Given the description of an element on the screen output the (x, y) to click on. 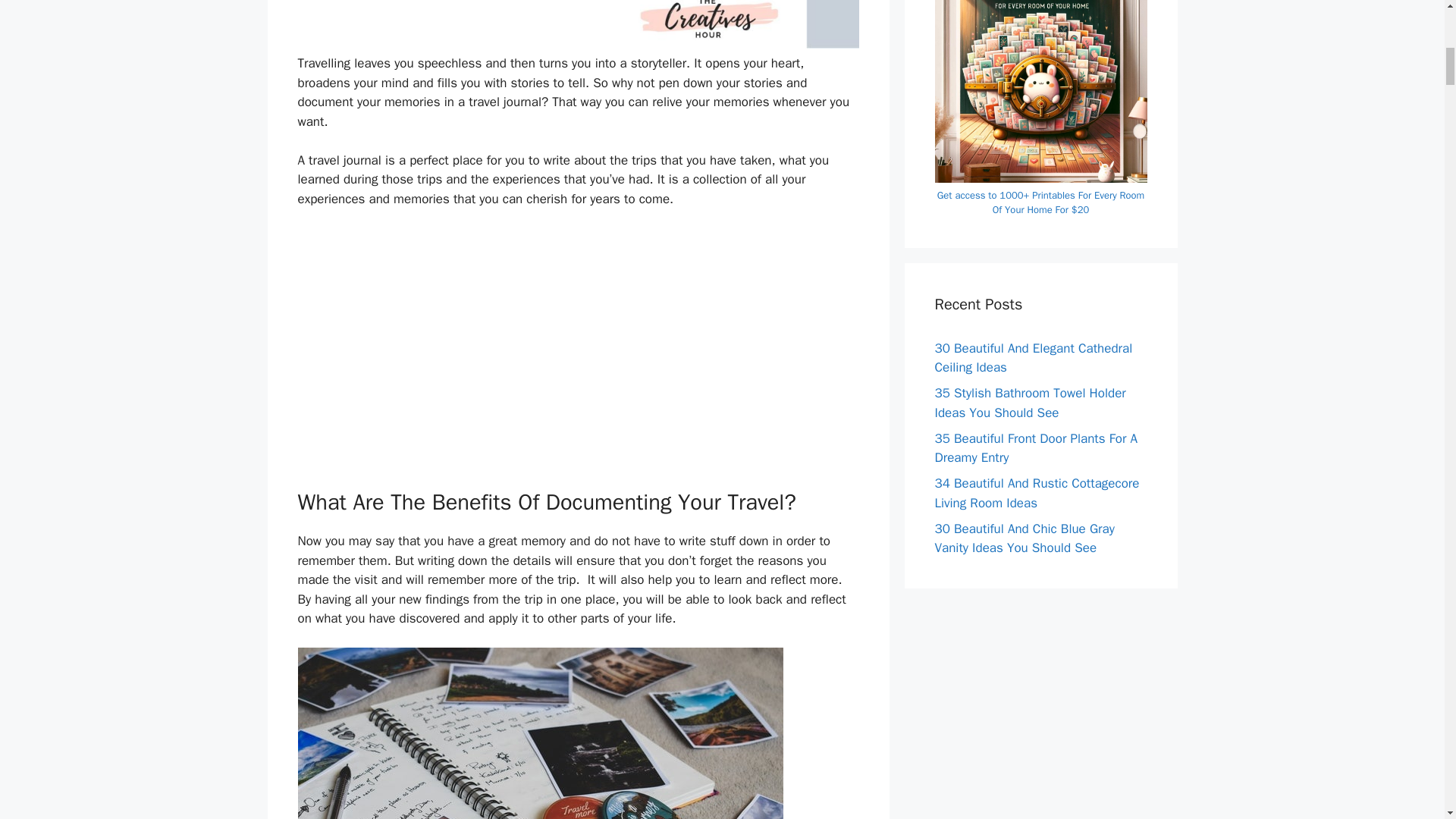
Scroll back to top (1406, 720)
